Given the description of an element on the screen output the (x, y) to click on. 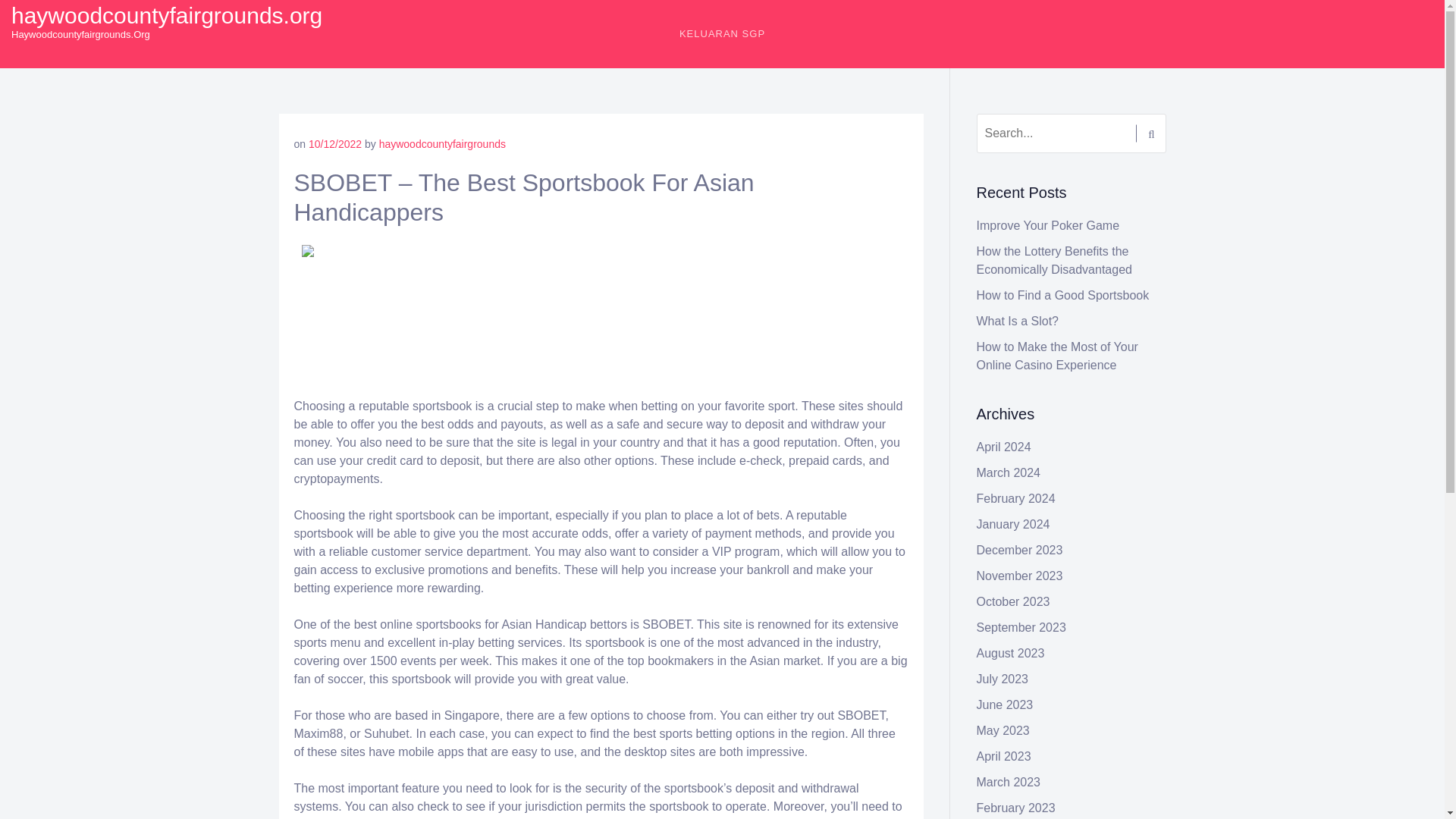
March 2023 (1008, 781)
October 2023 (1012, 601)
February 2024 (1015, 498)
December 2023 (1019, 549)
How to Make the Most of Your Online Casino Experience (1057, 355)
April 2024 (1003, 446)
March 2024 (1008, 472)
September 2023 (1020, 626)
August 2023 (1010, 653)
haywoodcountyfairgrounds.org (166, 15)
